Given the description of an element on the screen output the (x, y) to click on. 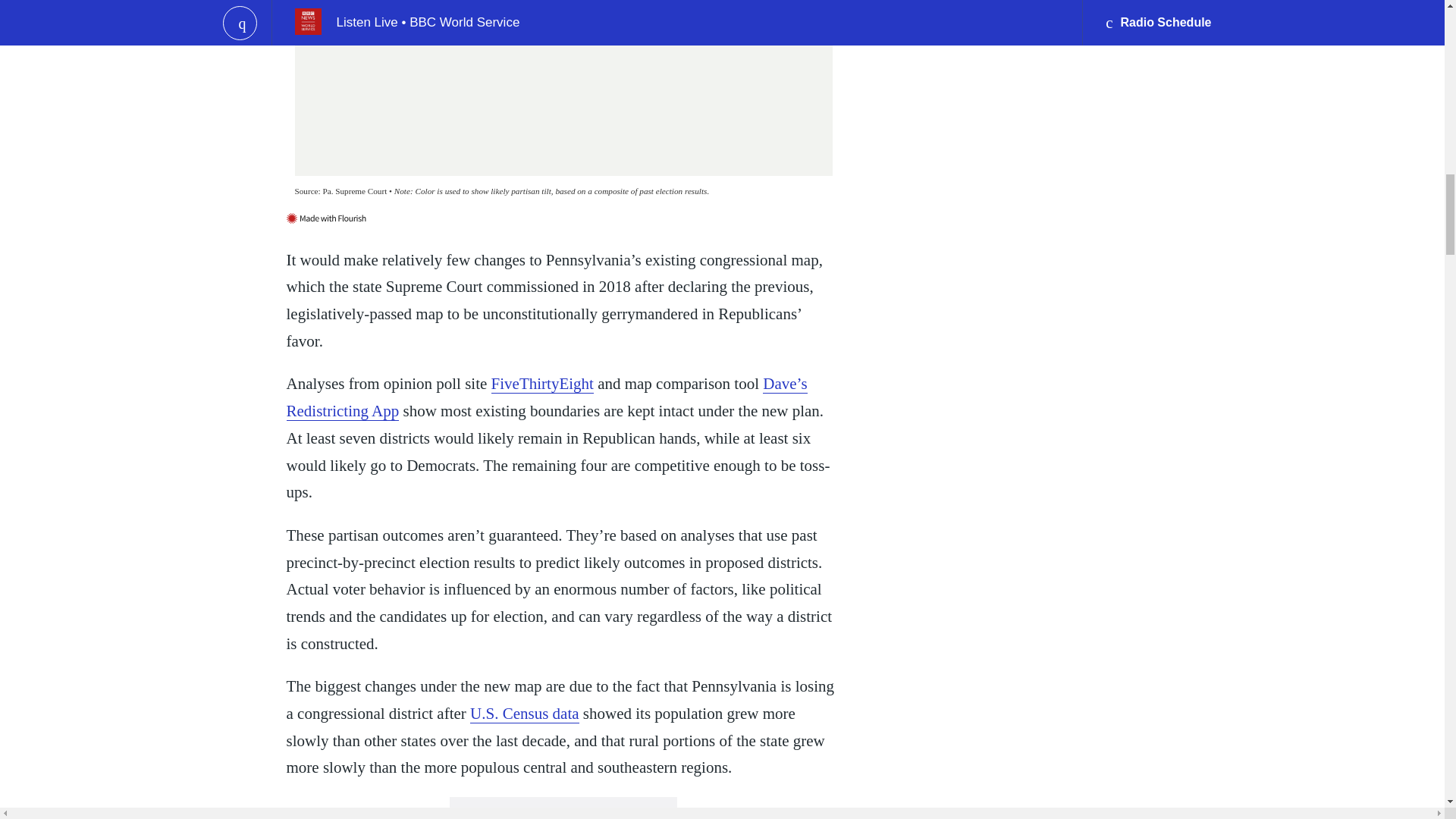
Interactive or visual content (563, 101)
3rd party ad content (562, 807)
